Given the description of an element on the screen output the (x, y) to click on. 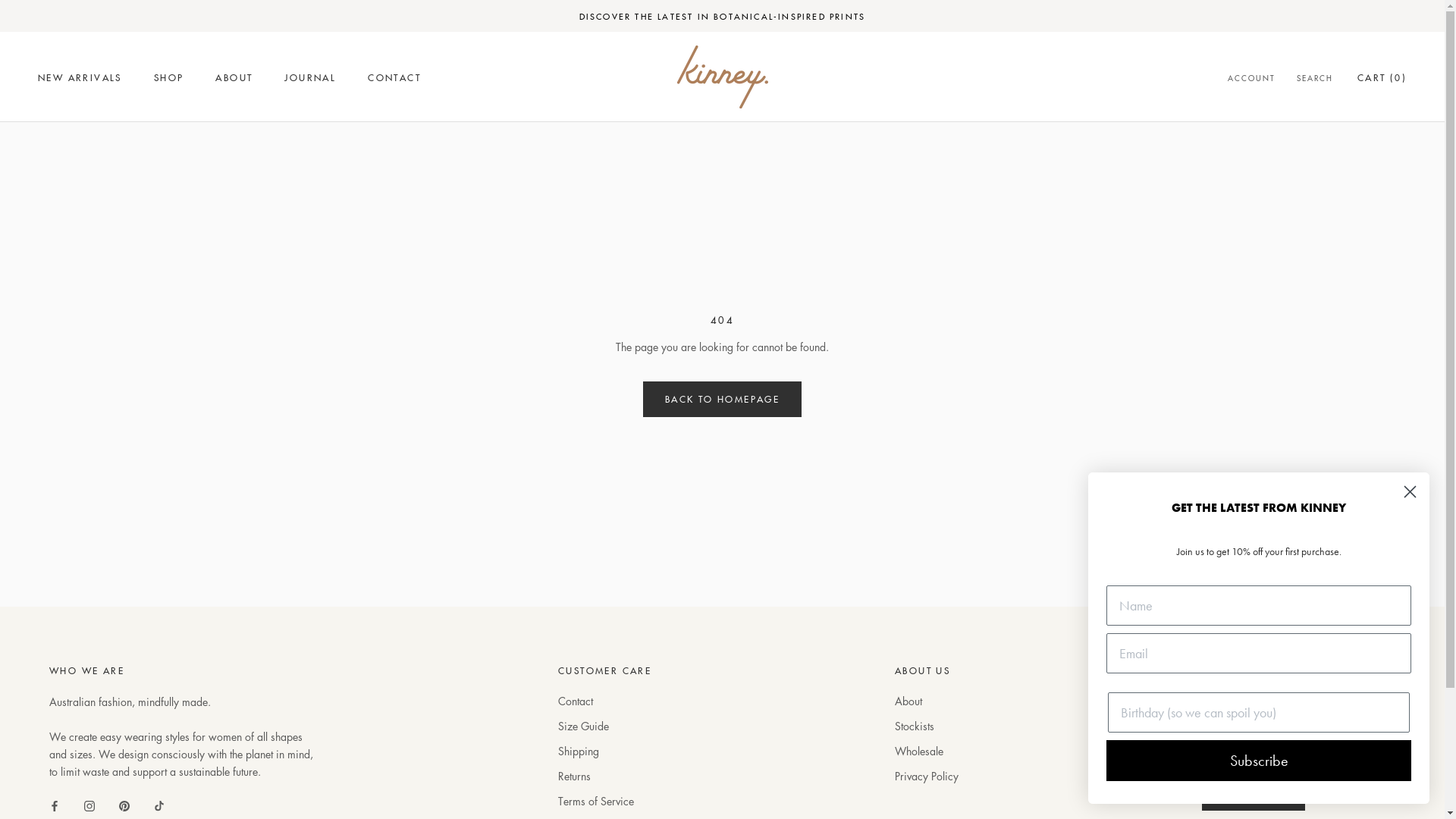
SEARCH Element type: text (1314, 78)
BACK TO HOMEPAGE Element type: text (722, 399)
Size Guide Element type: text (604, 726)
Stockists Element type: text (926, 726)
ACCOUNT Element type: text (1251, 78)
SUBSCRIBE Element type: text (1253, 792)
SHOP
SHOP Element type: text (168, 77)
Privacy Policy Element type: text (926, 776)
Subscribe Element type: text (1258, 760)
Terms of Service Element type: text (604, 801)
ABOUT
ABOUT Element type: text (233, 77)
JOURNAL
JOURNAL Element type: text (309, 77)
DISCOVER THE LATEST IN BOTANICAL-INSPIRED PRINTS Element type: text (722, 15)
CONTACT
CONTACT Element type: text (393, 77)
Contact Element type: text (604, 701)
NEW ARRIVALS
NEW ARRIVALS Element type: text (79, 77)
CART (0) Element type: text (1381, 77)
Returns Element type: text (604, 776)
Submit Element type: text (17, 8)
About Element type: text (926, 701)
Shipping Element type: text (604, 751)
Wholesale Element type: text (926, 751)
